Given the description of an element on the screen output the (x, y) to click on. 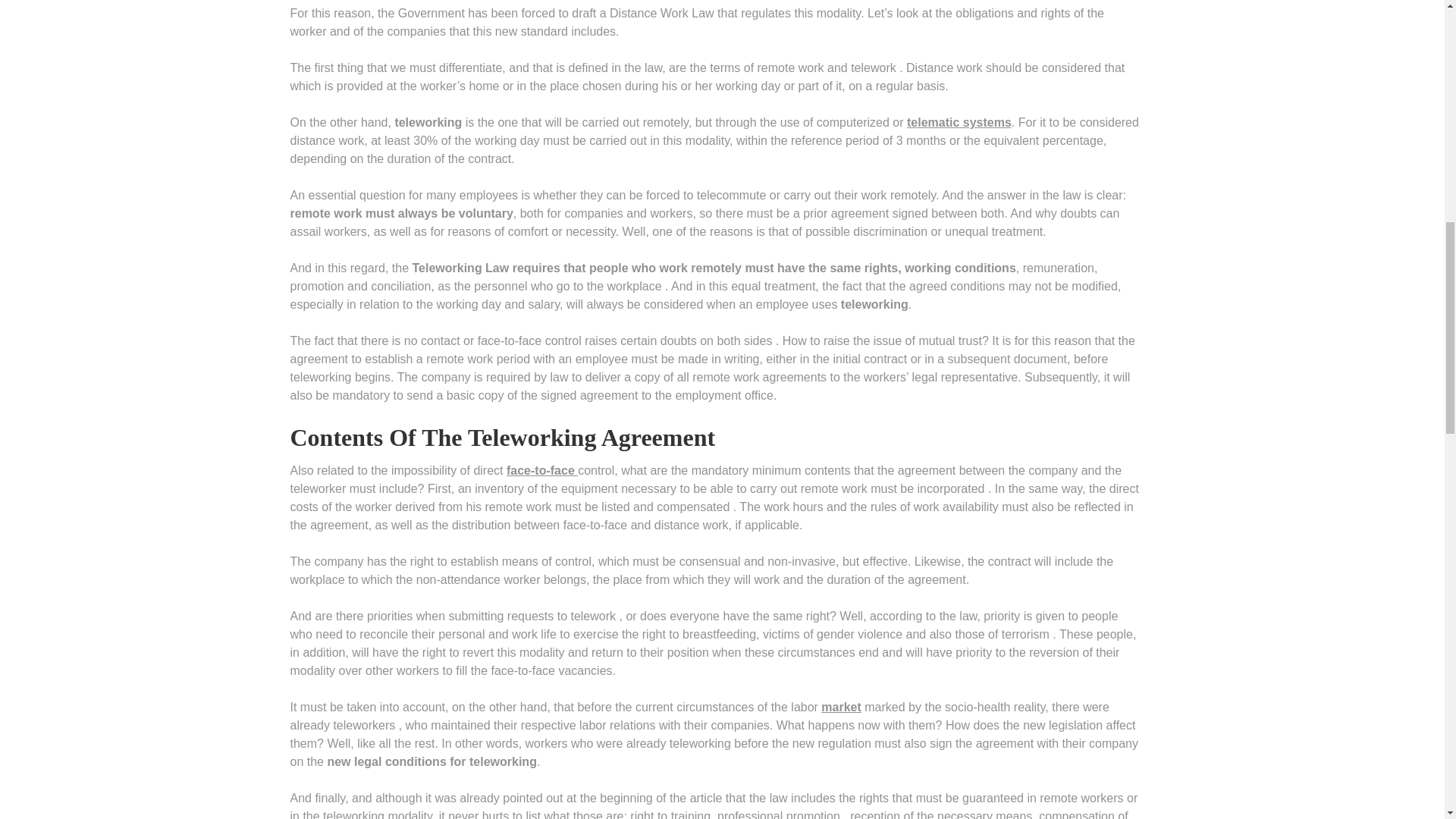
face-to-face (542, 470)
market (840, 707)
telematic systems (959, 122)
